Given the description of an element on the screen output the (x, y) to click on. 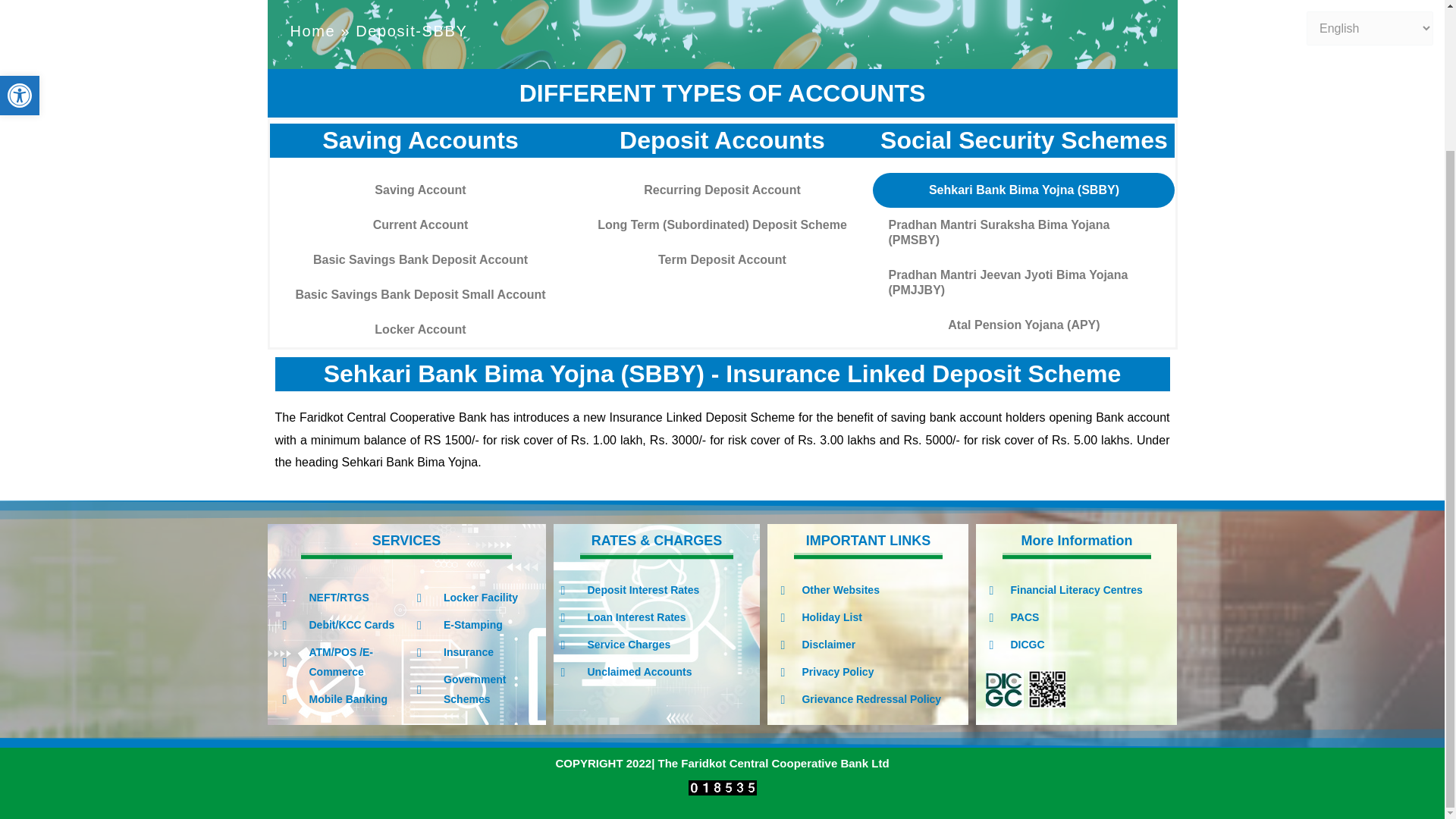
DICGC (1004, 689)
QrCode-DICGC (1046, 689)
